Given the description of an element on the screen output the (x, y) to click on. 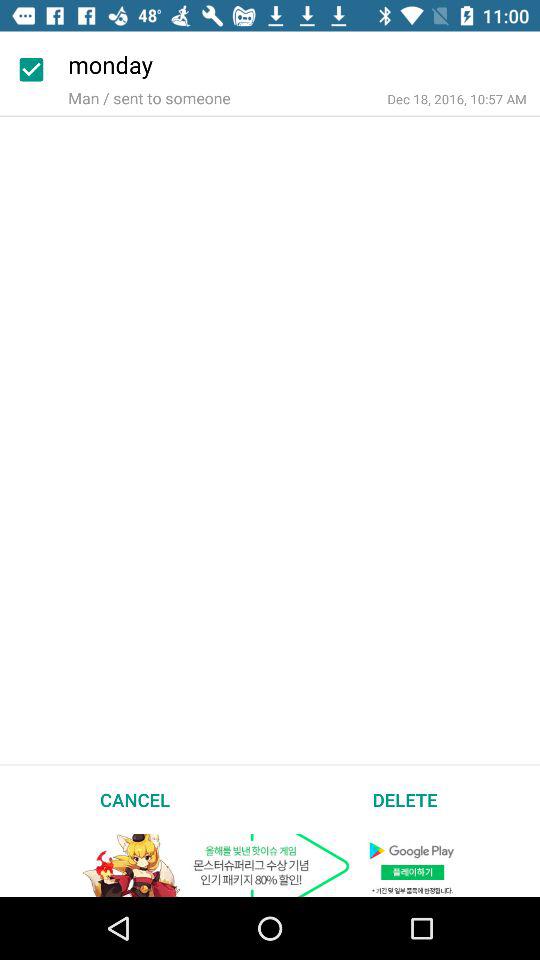
turn off item below monday item (456, 98)
